Given the description of an element on the screen output the (x, y) to click on. 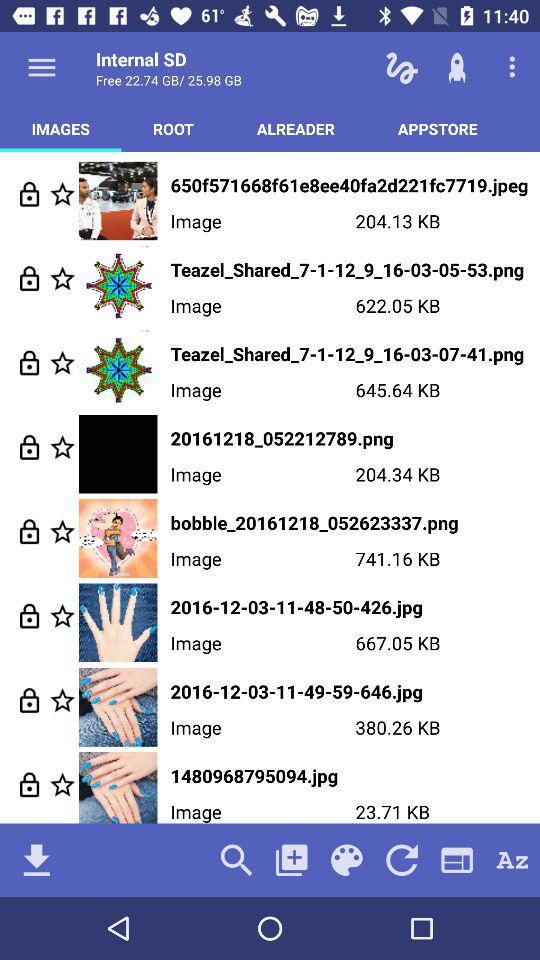
unlock content (29, 531)
